Given the description of an element on the screen output the (x, y) to click on. 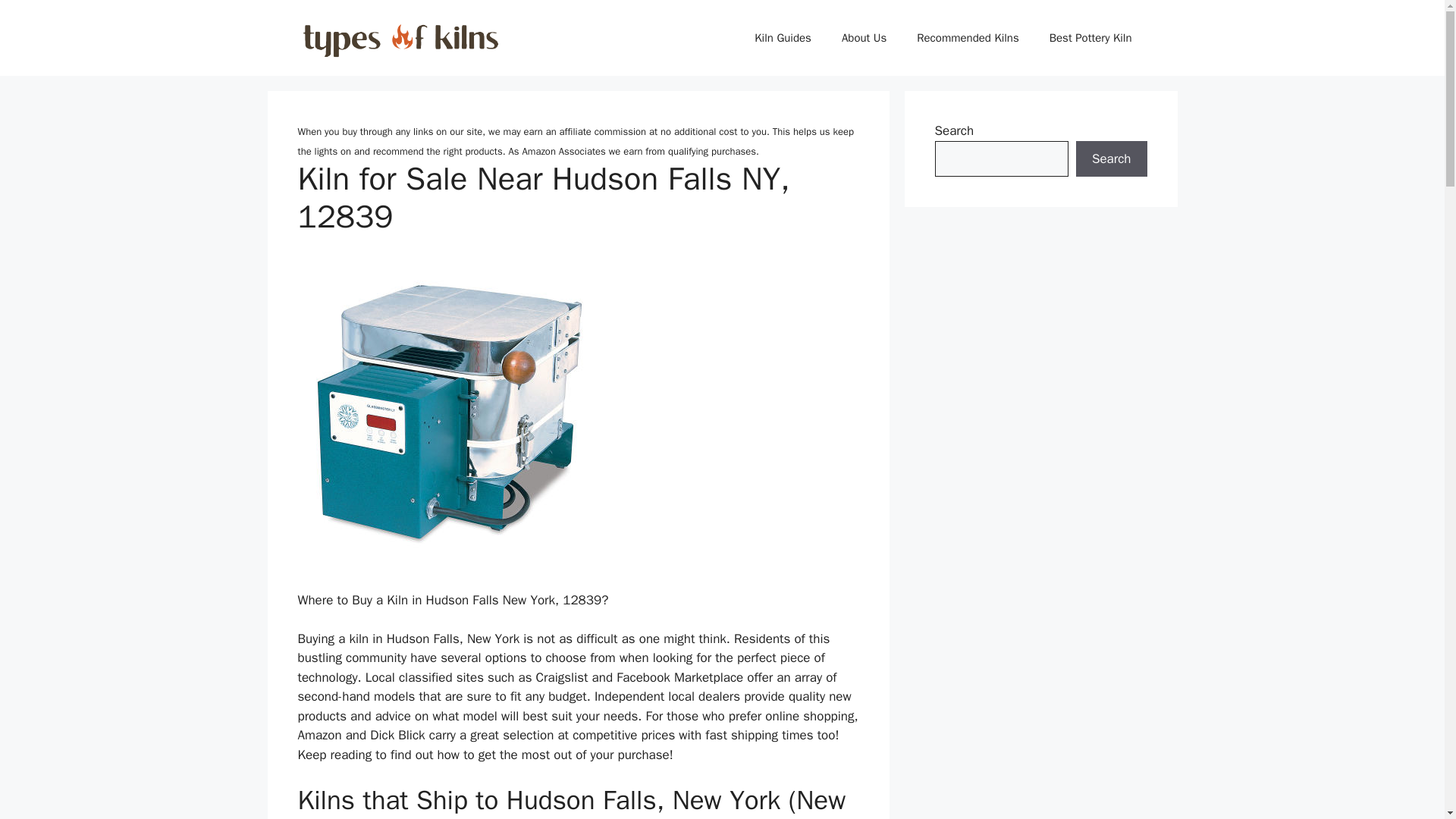
Kiln Guides (783, 37)
About Us (864, 37)
Best Pottery Kiln (1090, 37)
Recommended Kilns (967, 37)
Search (1111, 158)
